Given the description of an element on the screen output the (x, y) to click on. 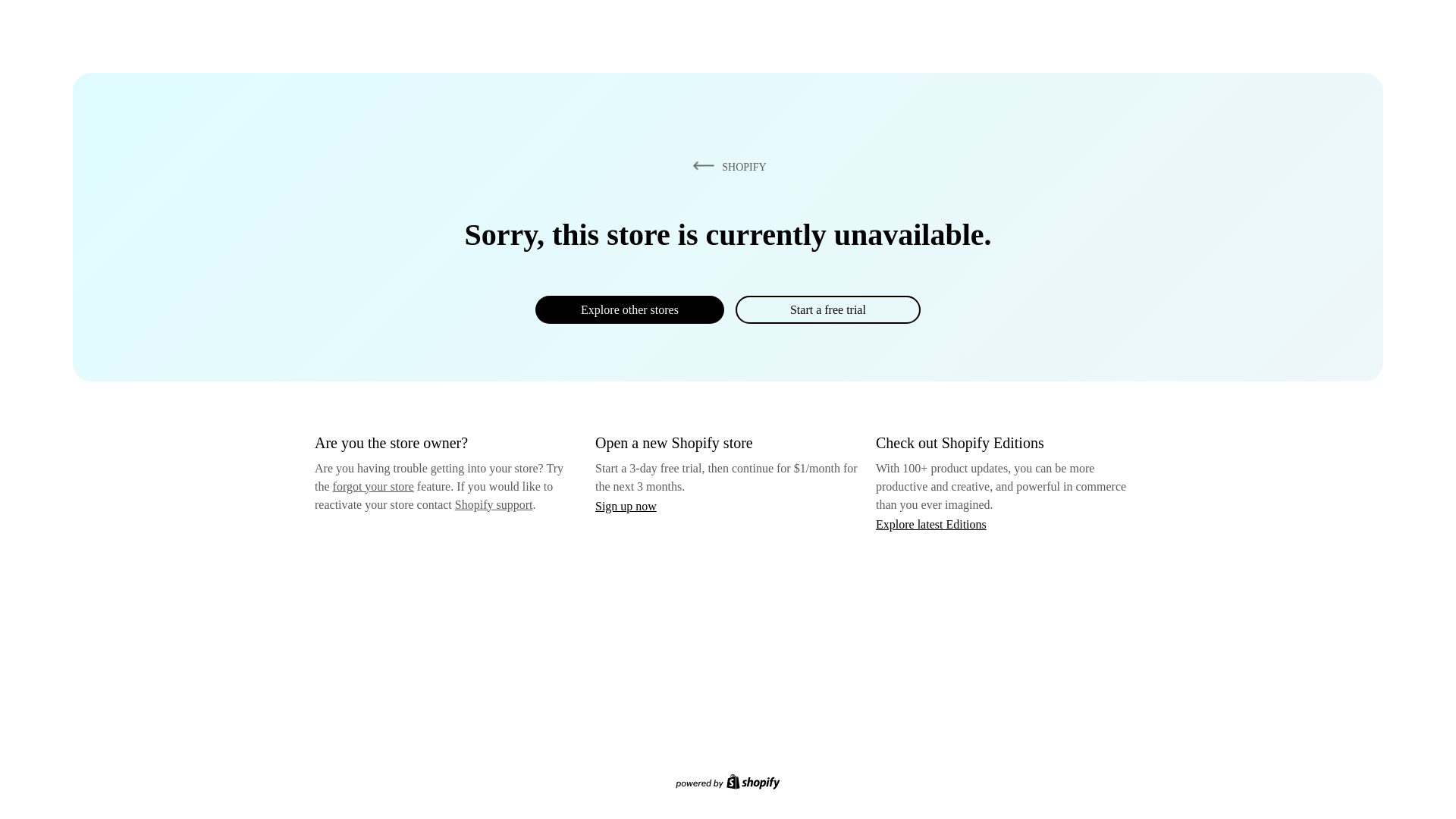
SHOPIFY (726, 166)
forgot your store (373, 486)
Sign up now (625, 505)
Explore latest Editions (931, 523)
Shopify support (493, 504)
Explore other stores (629, 309)
Start a free trial (827, 309)
